Given the description of an element on the screen output the (x, y) to click on. 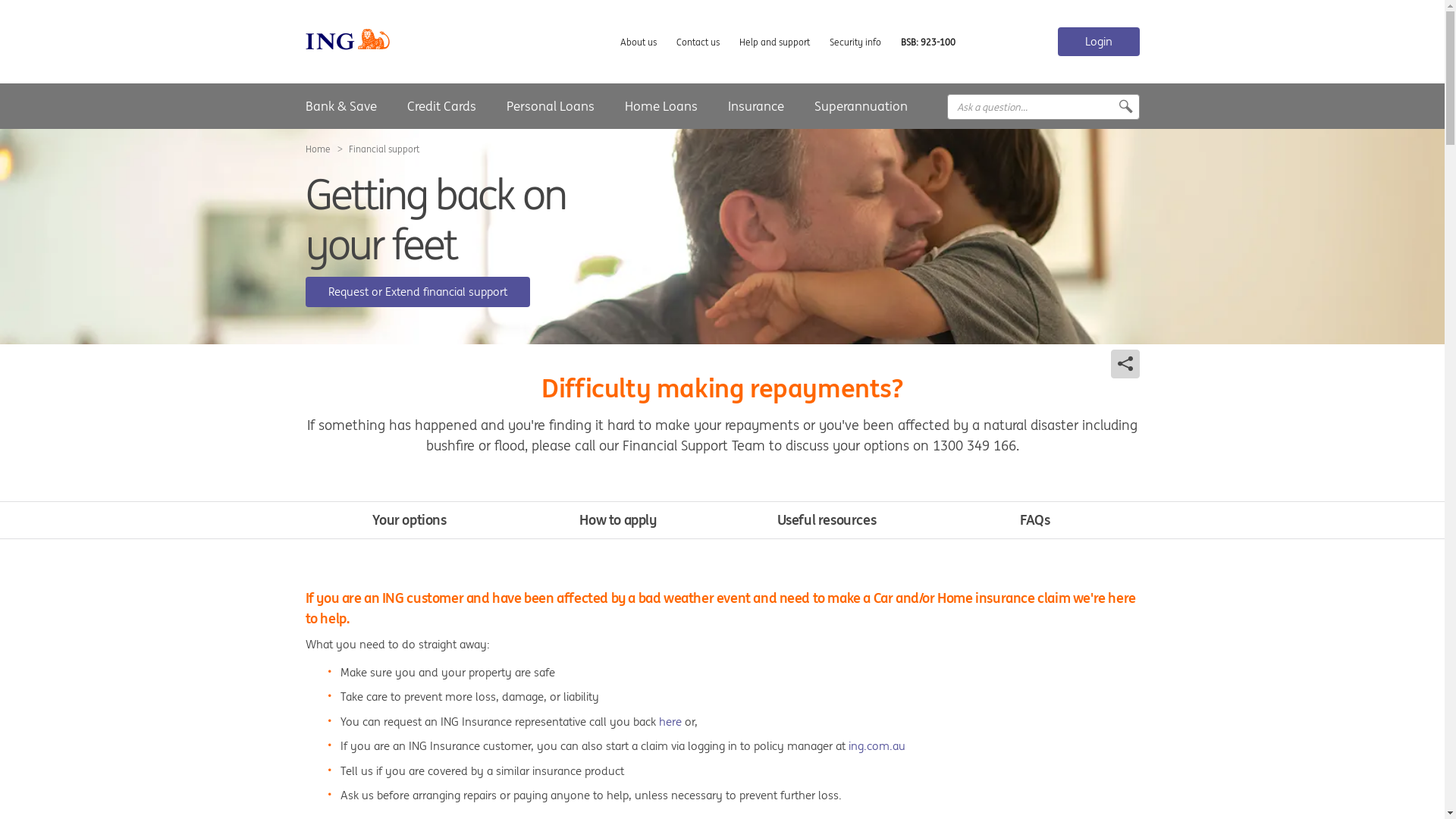
ING Element type: hover (412, 106)
Share this Element type: hover (1113, 106)
About us Element type: text (638, 41)
Bank & Save Element type: text (340, 105)
Useful resources Element type: text (826, 519)
Personal Loans Element type: text (550, 105)
Your options Element type: text (408, 519)
Credit Cards Element type: text (440, 105)
Home Element type: text (316, 148)
FAQs Element type: text (1034, 519)
Contact us Element type: text (697, 41)
Help and support Element type: text (773, 41)
Security info Element type: text (855, 41)
Share this Element type: hover (1124, 363)
Superannuation Element type: text (860, 105)
Insurance Element type: text (755, 105)
Home Loans Element type: text (660, 105)
here Element type: text (669, 721)
Request or Extend financial support Element type: text (416, 291)
How to apply Element type: text (617, 519)
ing.com.au Element type: text (875, 745)
